Given the description of an element on the screen output the (x, y) to click on. 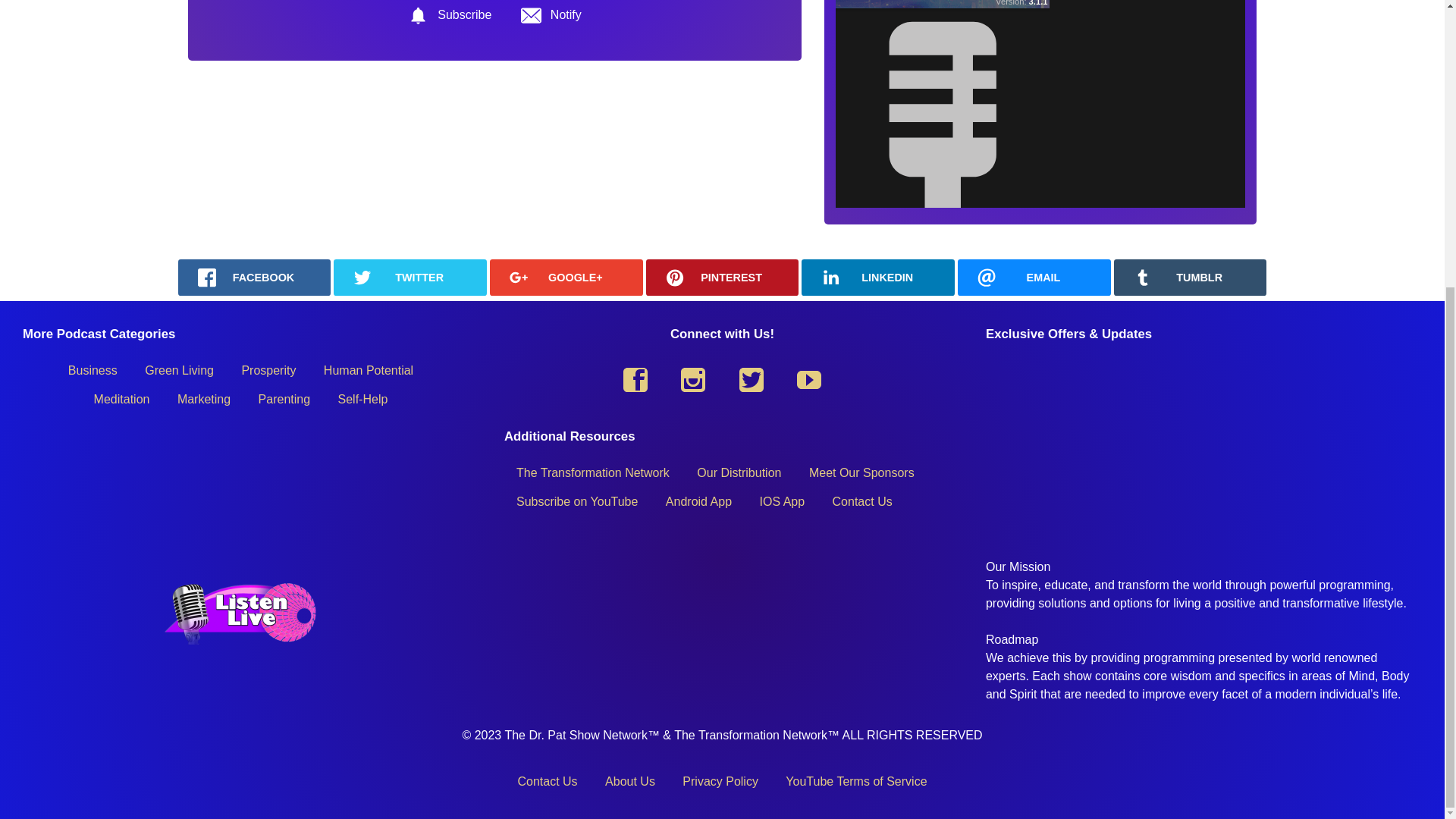
Send me an email message when guest new podcast is available (551, 18)
PINTEREST (722, 277)
FACEBOOK (253, 277)
Business (92, 370)
Form 0 (1203, 445)
Meditation (121, 399)
 Subscribe (448, 18)
Self-Help (363, 399)
TUMBLR (1189, 277)
LINKEDIN (878, 277)
Marketing (204, 399)
 Notify (551, 18)
Parenting (284, 399)
Human Potential (368, 370)
